Given the description of an element on the screen output the (x, y) to click on. 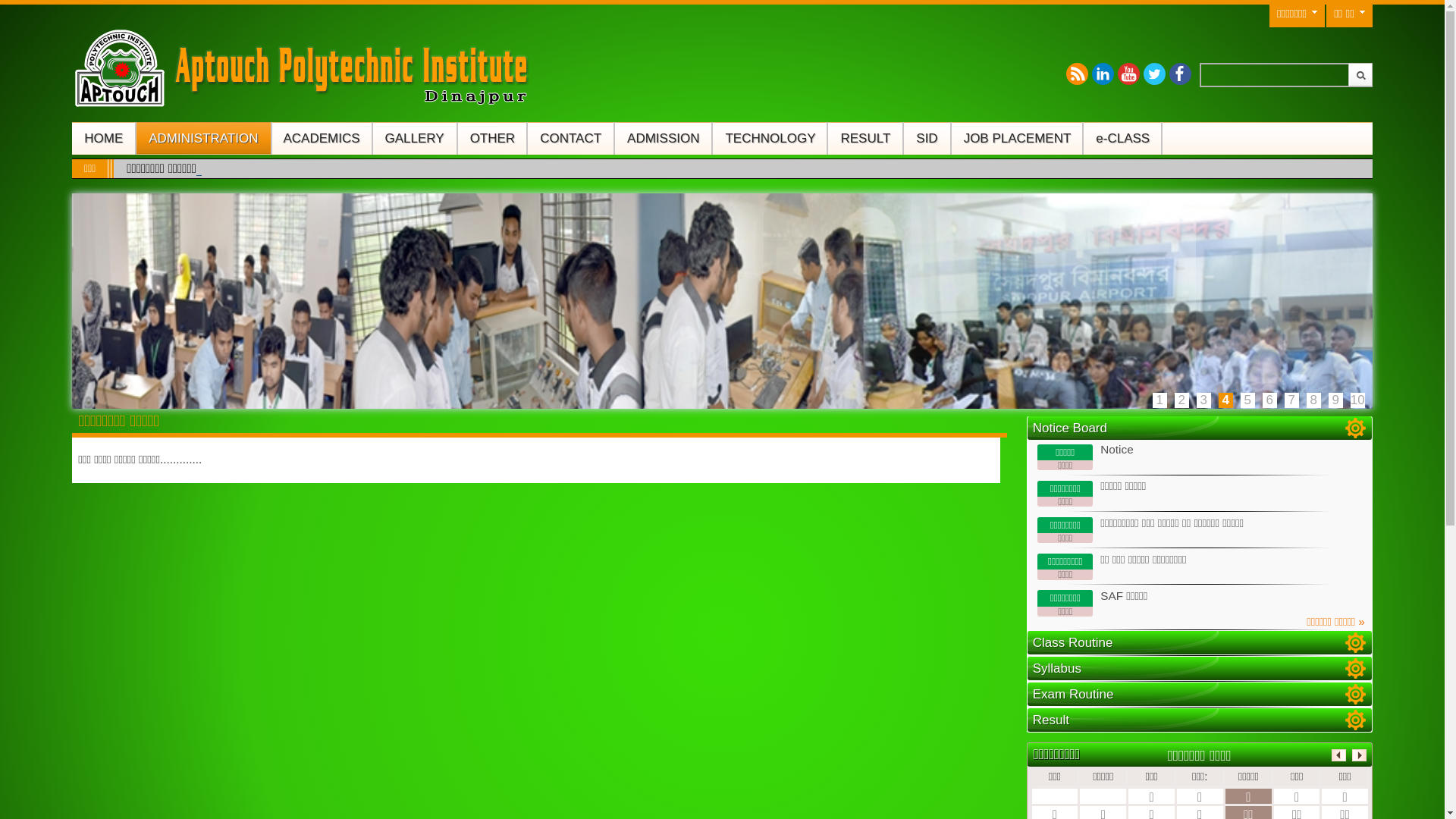
HOME Element type: text (103, 138)
e-CLASS Element type: text (1122, 138)
TECHNOLOGY Element type: text (769, 138)
4 Element type: text (1225, 399)
GALLERY Element type: text (414, 138)
1 Element type: text (1159, 399)
  Element type: text (1355, 427)
RESULT Element type: text (864, 138)
  Element type: text (1355, 642)
JOB PLACEMENT Element type: text (1017, 138)
3 Element type: text (1203, 399)
CONTACT Element type: text (570, 138)
6 Element type: text (1269, 399)
Submit Element type: text (1360, 74)
OTHER Element type: text (492, 138)
7 Element type: text (1291, 399)
10 Element type: text (1357, 399)
5 Element type: text (1247, 399)
8 Element type: text (1313, 399)
  Element type: text (1355, 694)
9 Element type: text (1335, 399)
  Element type: text (1355, 719)
SID Element type: text (926, 138)
ACADEMICS Element type: text (320, 138)
ADMINISTRATION Element type: text (202, 138)
  Element type: text (1355, 668)
ADMISSION Element type: text (662, 138)
2 Element type: text (1181, 399)
